Given the description of an element on the screen output the (x, y) to click on. 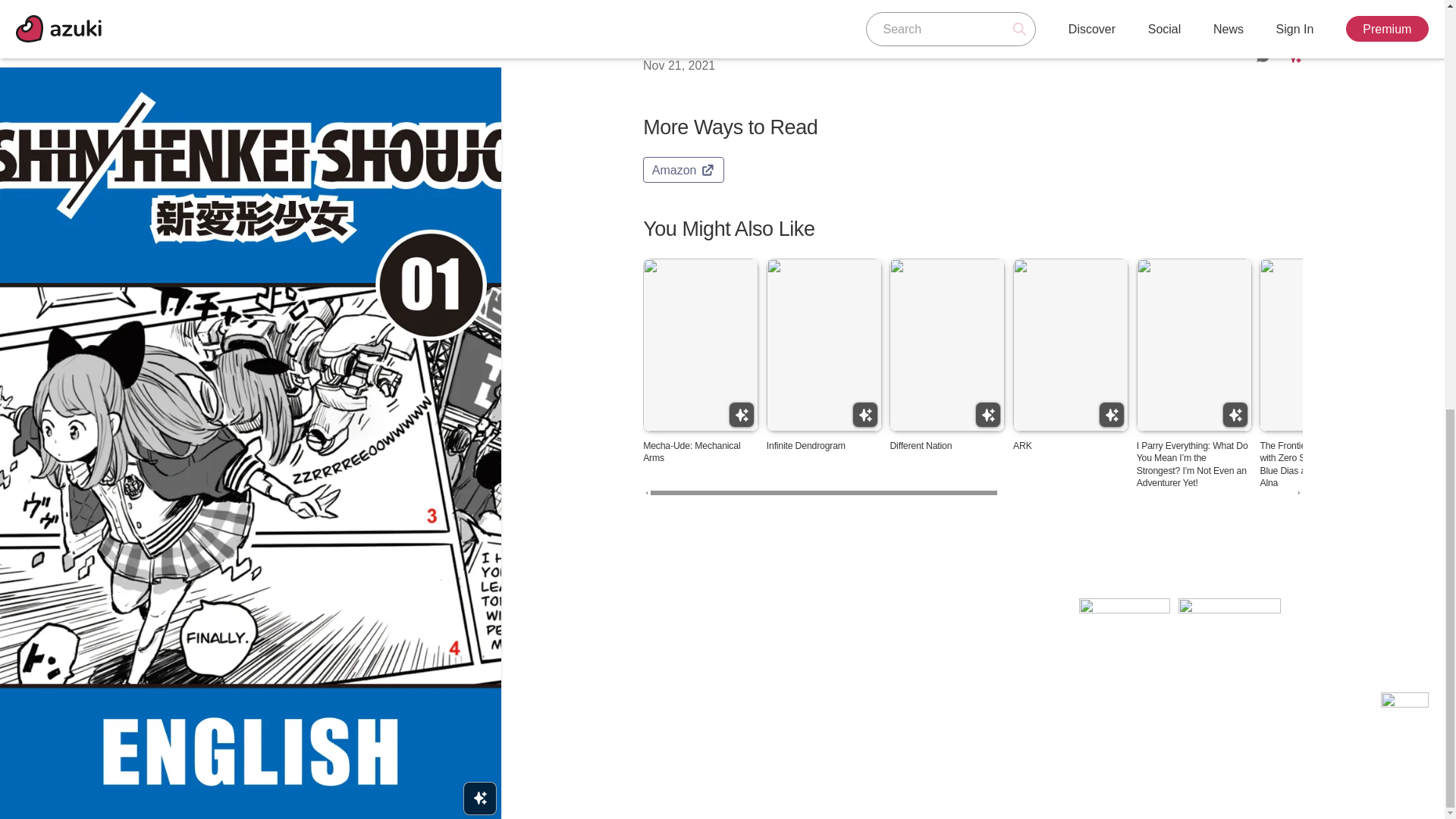
Premium Series (1358, 414)
Chapter 8 (670, 1)
Comments (1263, 55)
Premium Series (1235, 414)
Premium Series (1111, 414)
Premium Series (864, 414)
Premium Series (741, 414)
Chapter 9 (670, 46)
Buy on Amazon (683, 169)
Comments (1263, 6)
